Given the description of an element on the screen output the (x, y) to click on. 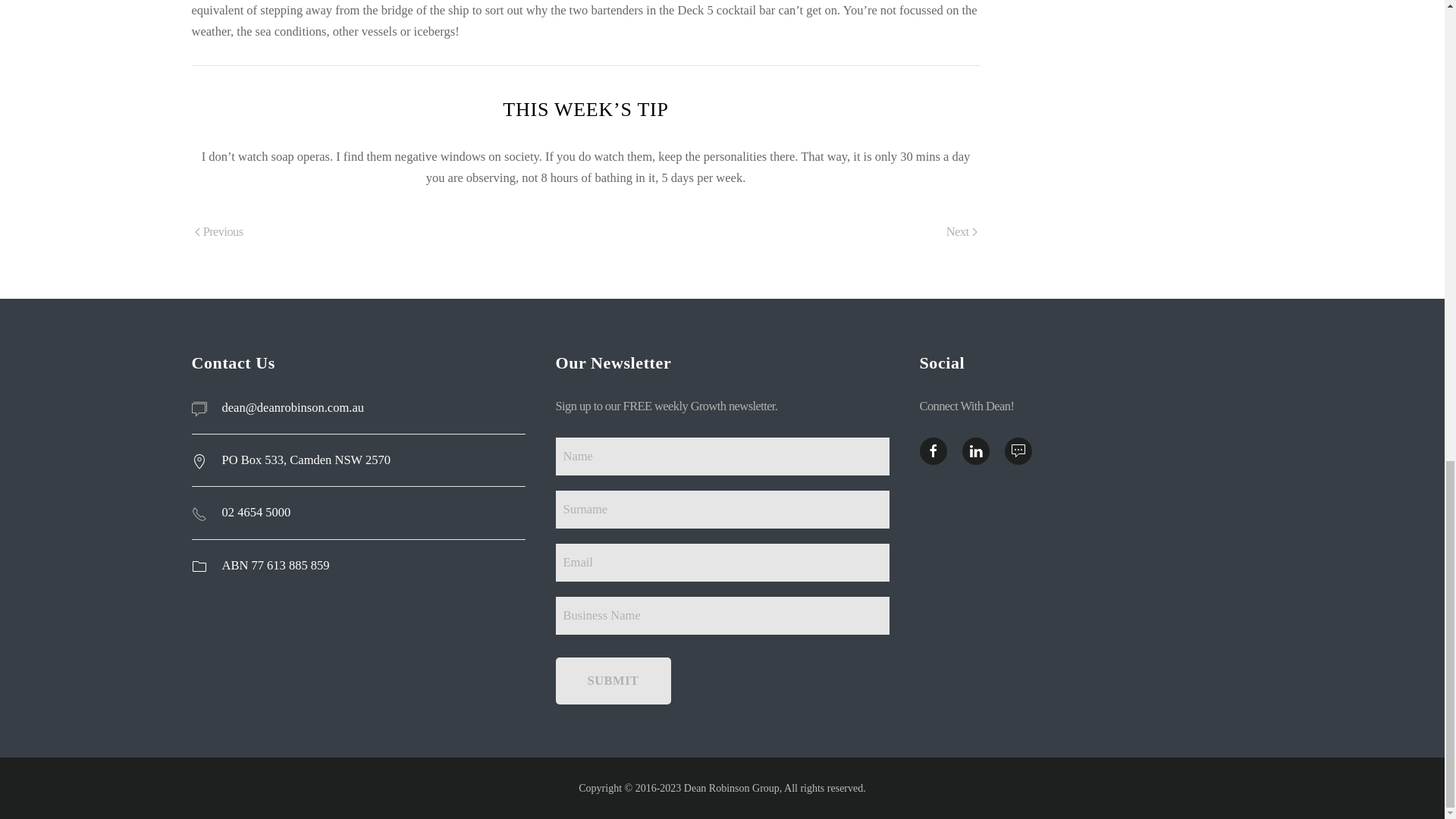
Submit (611, 680)
